Given the description of an element on the screen output the (x, y) to click on. 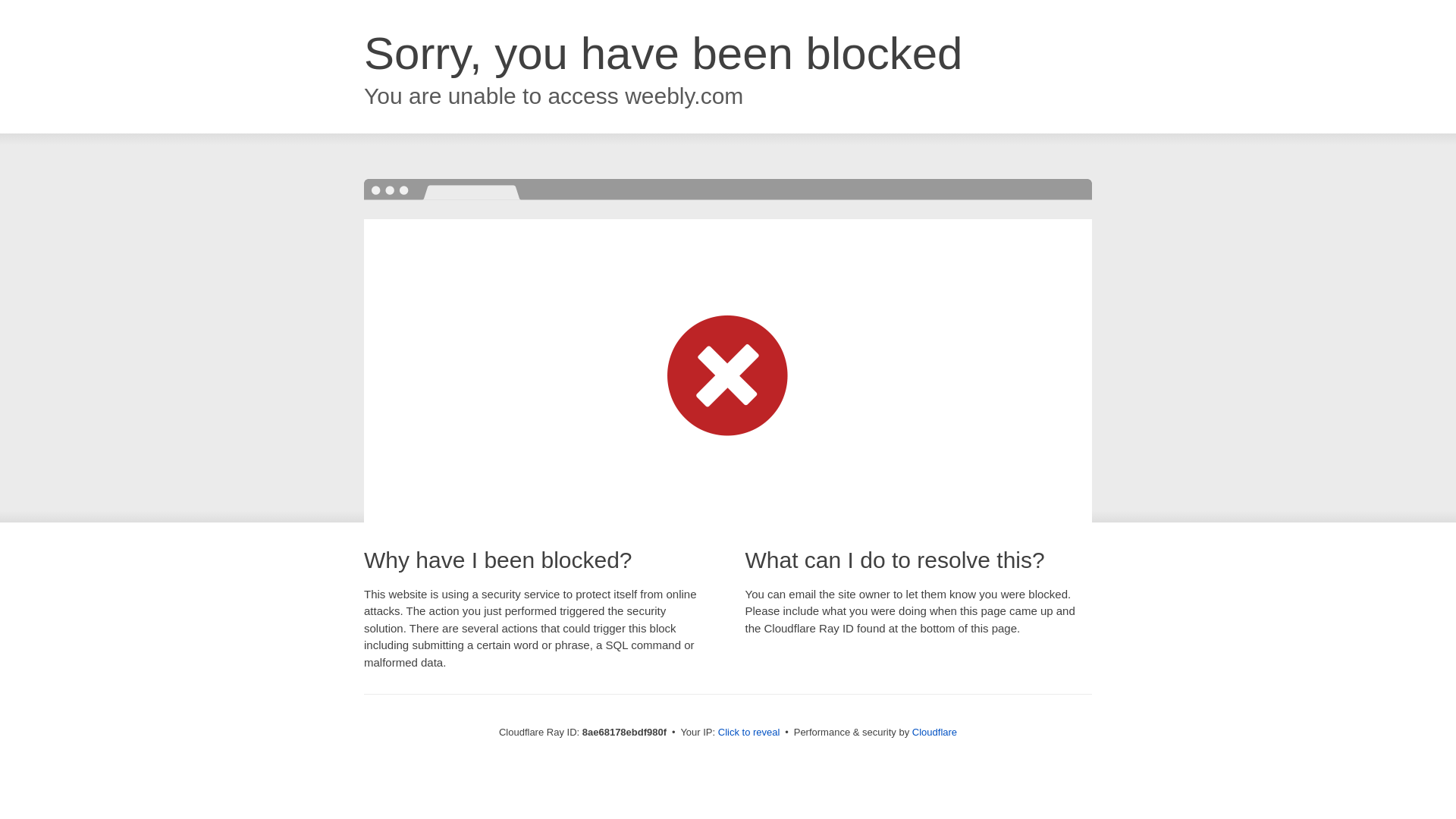
Cloudflare (934, 731)
Click to reveal (748, 732)
